Given the description of an element on the screen output the (x, y) to click on. 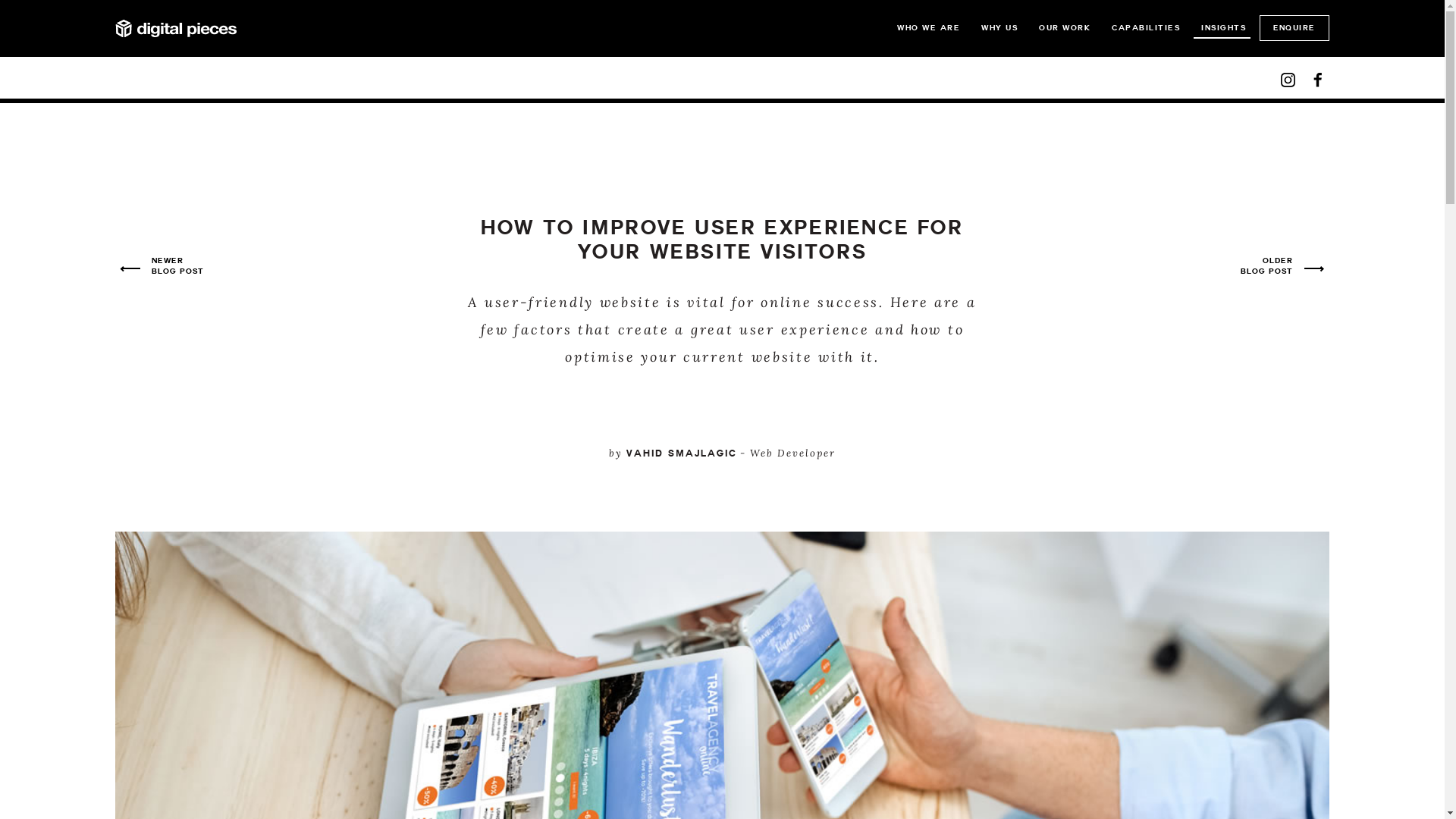
Our Work Element type: text (1063, 26)
Capabilities Element type: text (1144, 26)
  older
blog post Element type: text (1266, 265)
  newer
blog post Element type: text (177, 265)
facebook Element type: text (1317, 79)
Why Us Element type: text (997, 26)
Who We Are Element type: text (926, 26)
Enquire Element type: text (1294, 27)
Insights Element type: text (1221, 26)
instragram Element type: text (1287, 79)
